Given the description of an element on the screen output the (x, y) to click on. 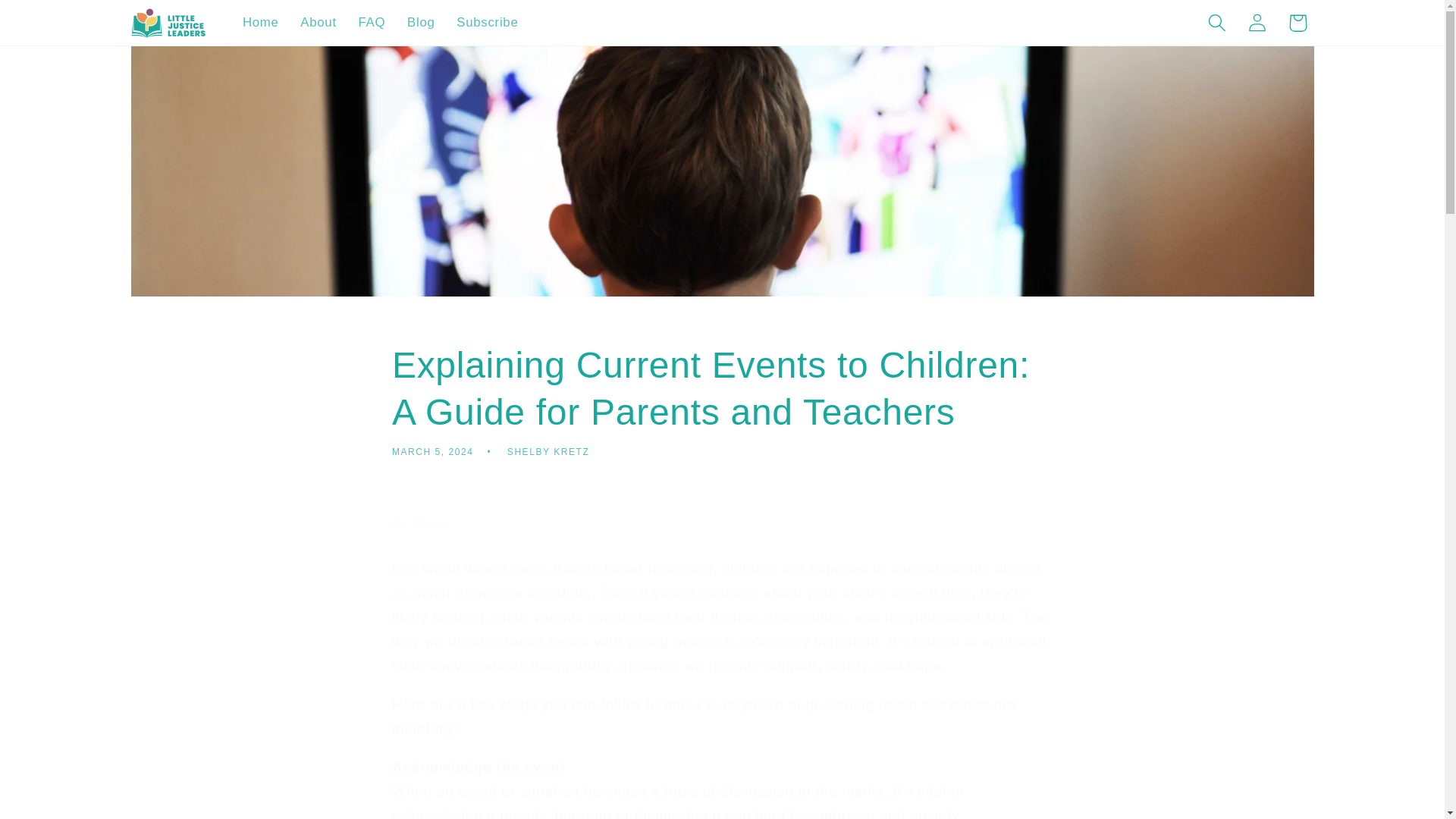
About (318, 22)
Cart (1296, 23)
Skip to content (59, 25)
Subscribe (487, 22)
FAQ (371, 22)
Blog (420, 22)
Log in (1257, 23)
Home (260, 22)
Share (721, 522)
